Given the description of an element on the screen output the (x, y) to click on. 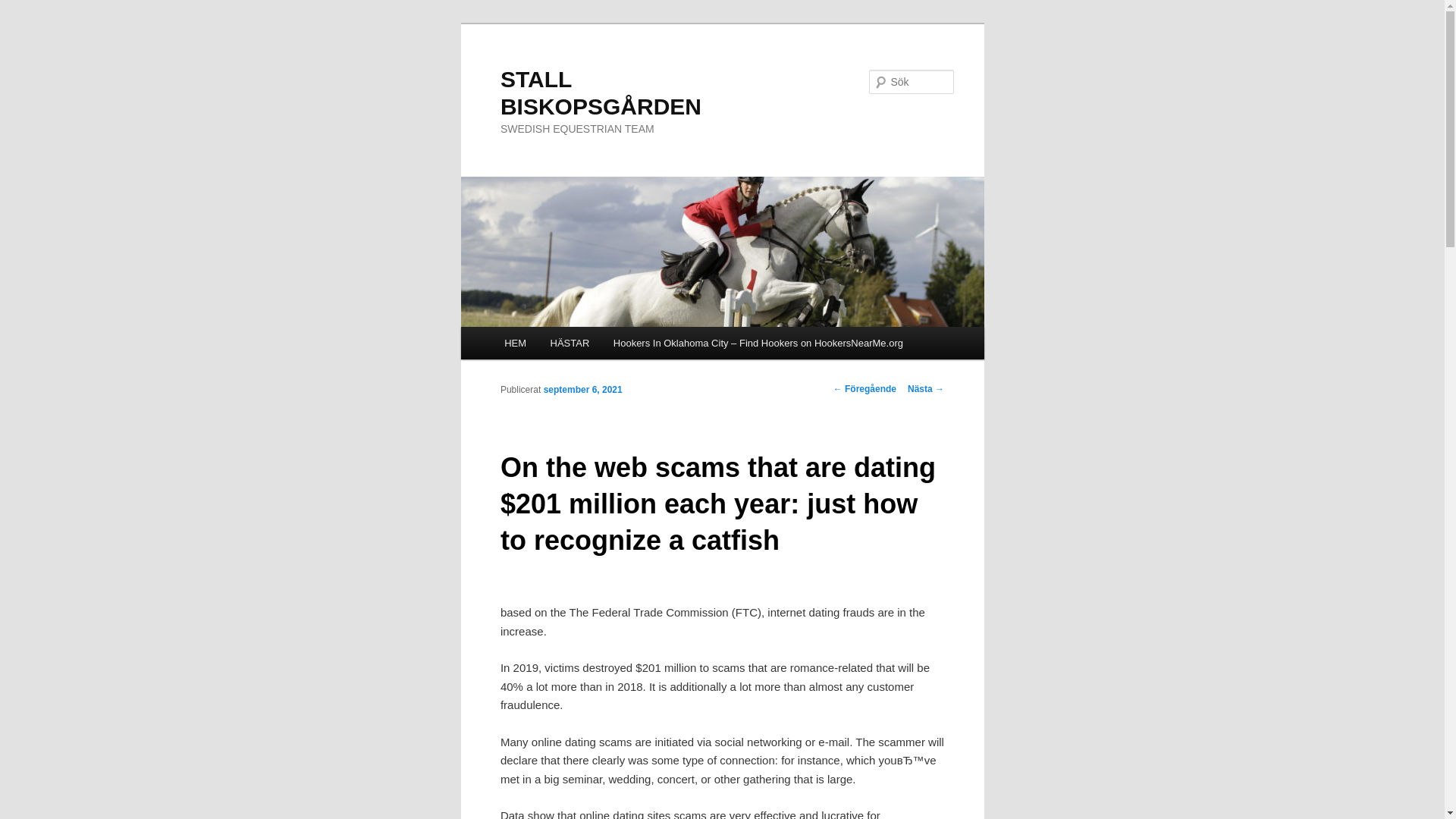
1:12 e m (583, 388)
september 6, 2021 (583, 388)
HEM (514, 342)
